Given the description of an element on the screen output the (x, y) to click on. 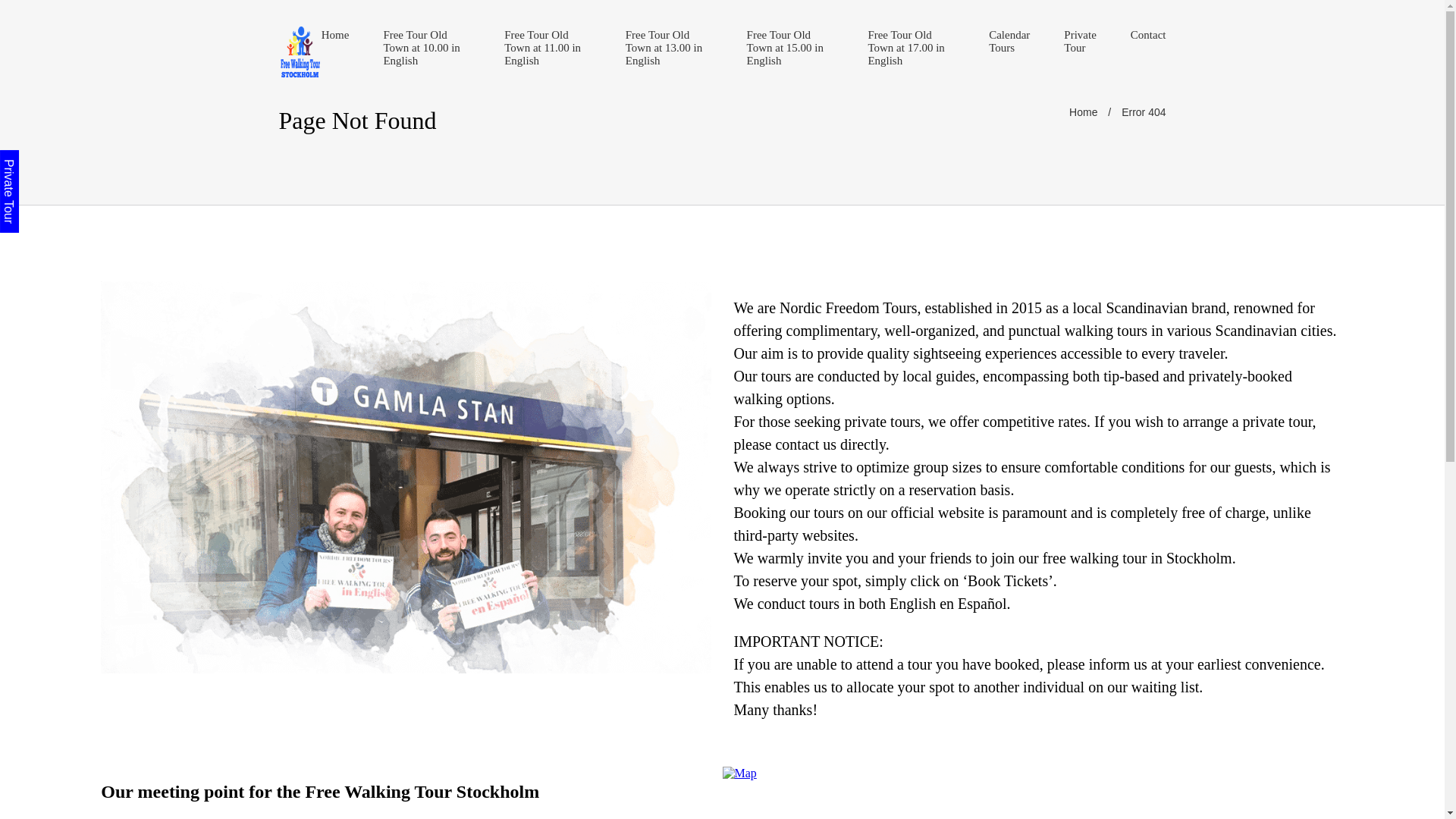
Free Tour Old Town at 11.00 in English (547, 48)
Free Tour Old Town at 10.00 in English (426, 48)
Free Tour Old Town at 13.00 in English (669, 48)
Private Tour (41, 158)
Home (1082, 111)
Free Tour Old Town at 17.00 in English (911, 48)
Free Tour Old Town at 15.00 in English (790, 48)
